Given the description of an element on the screen output the (x, y) to click on. 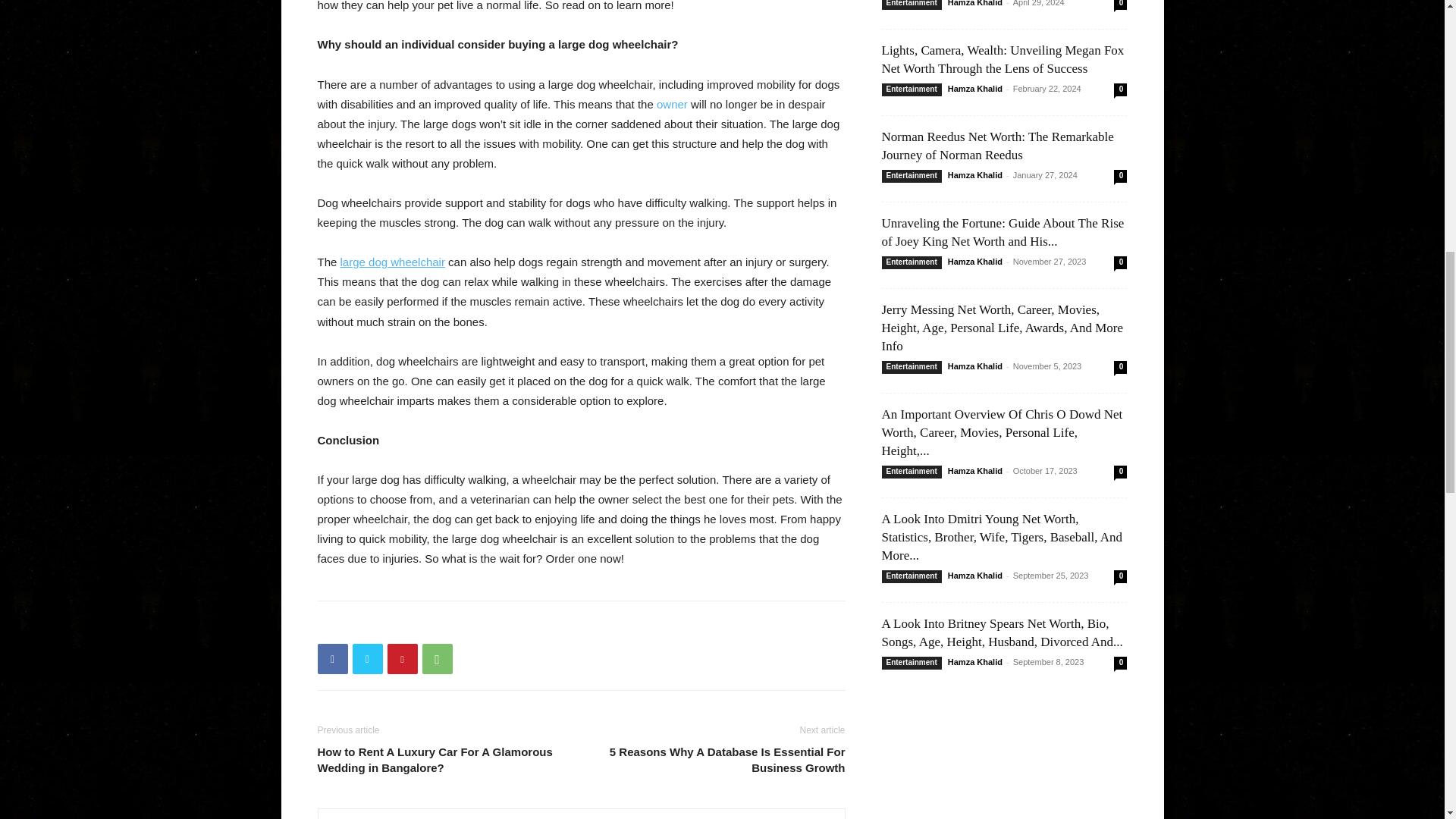
Facebook (332, 658)
bottomFacebookLike (430, 625)
Twitter (366, 658)
Pinterest (401, 658)
